Given the description of an element on the screen output the (x, y) to click on. 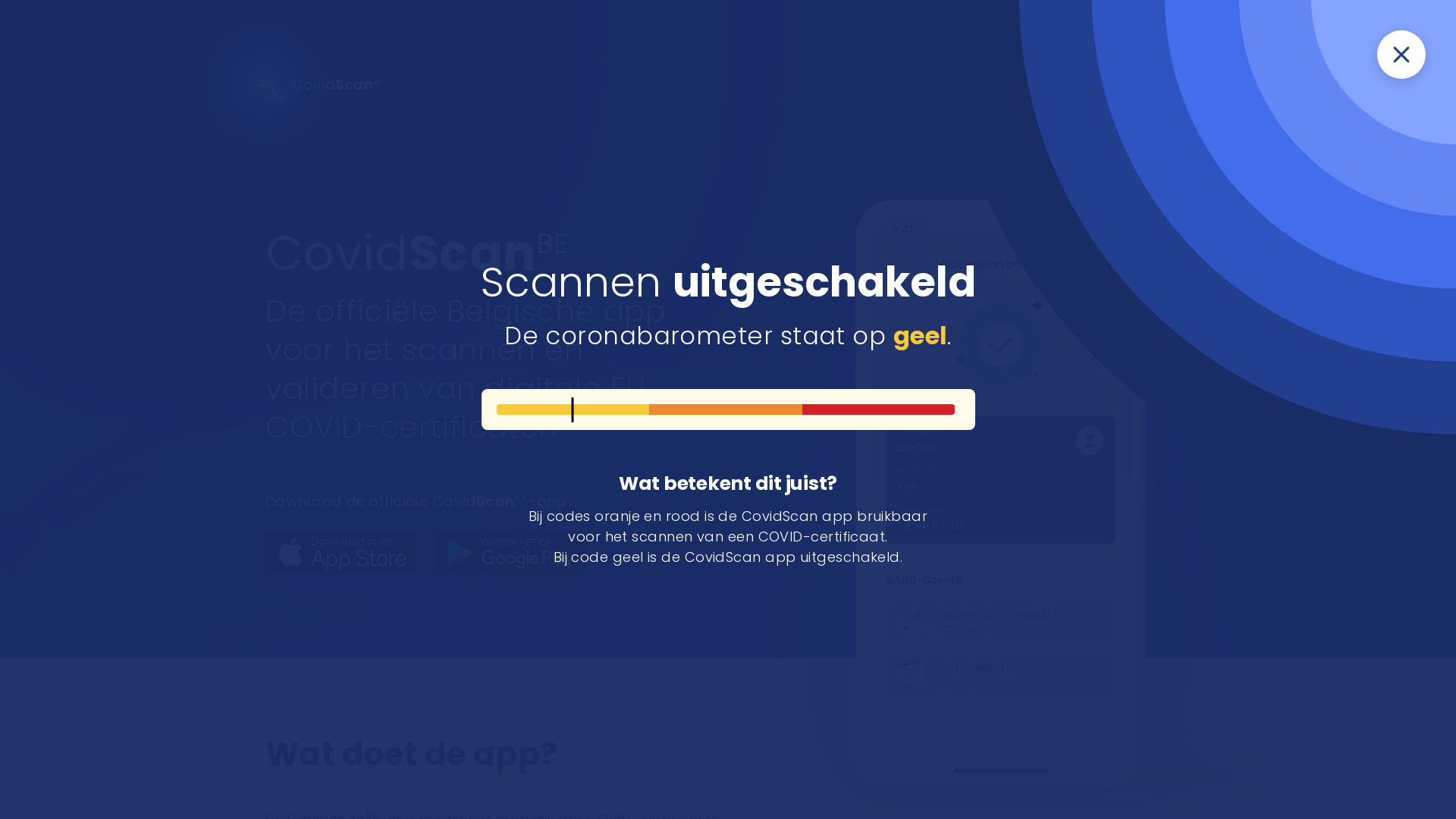
Download on the Play Store Element type: text (510, 552)
Download on the App Store Element type: text (340, 552)
CovidSafeBE Element type: text (1159, 30)
FR Element type: text (1140, 96)
EN Element type: text (1187, 96)
CovidScan.be Element type: text (336, 83)
NL Element type: text (1116, 96)
DU Element type: text (1163, 96)
